Given the description of an element on the screen output the (x, y) to click on. 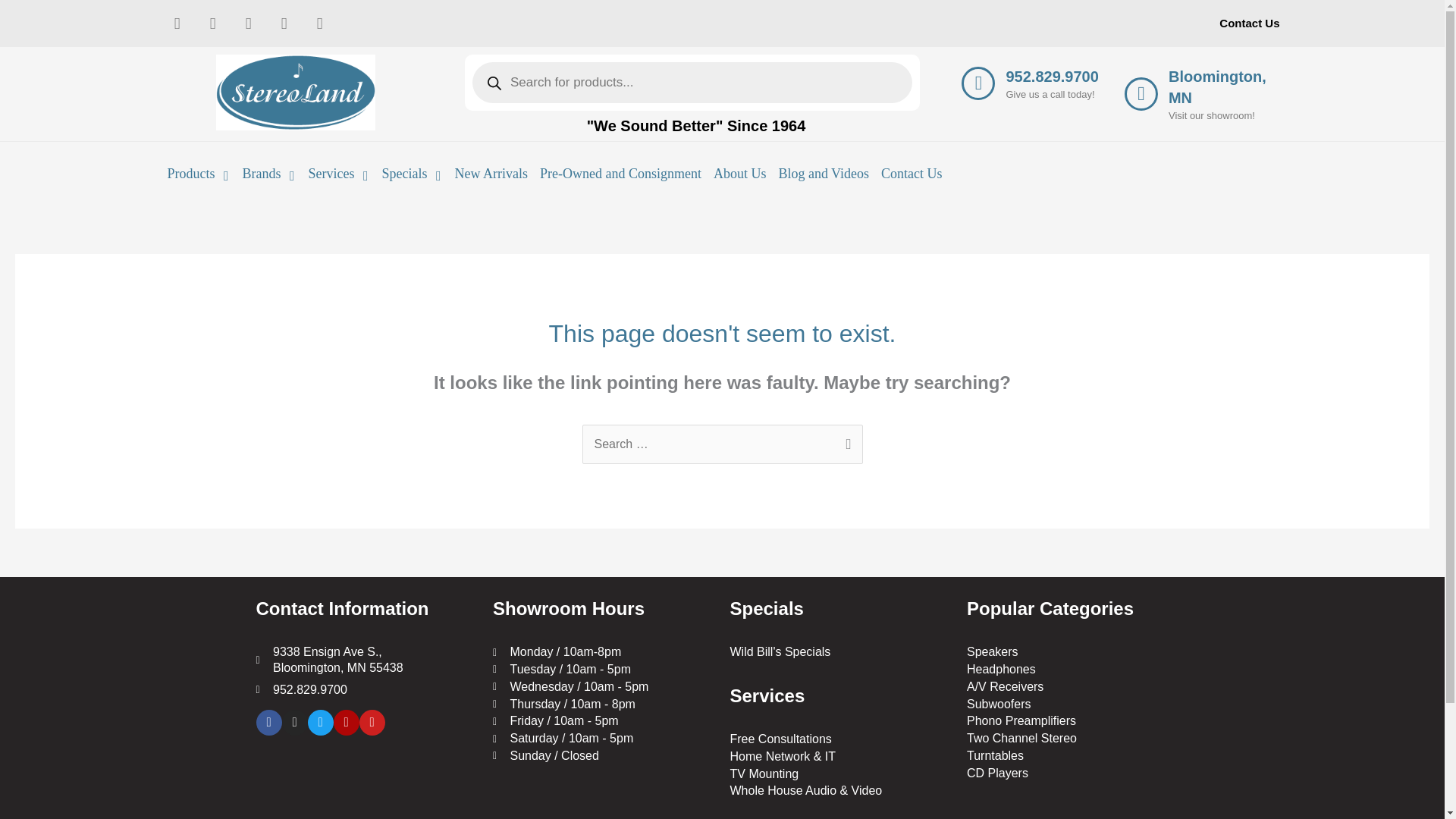
Products (197, 173)
9338 Ensign Ave S.,Bloomington, MN 55438 (367, 782)
Bloomington, MN (1217, 86)
952.829.9700 (1051, 76)
Contact Us (1248, 22)
